Given the description of an element on the screen output the (x, y) to click on. 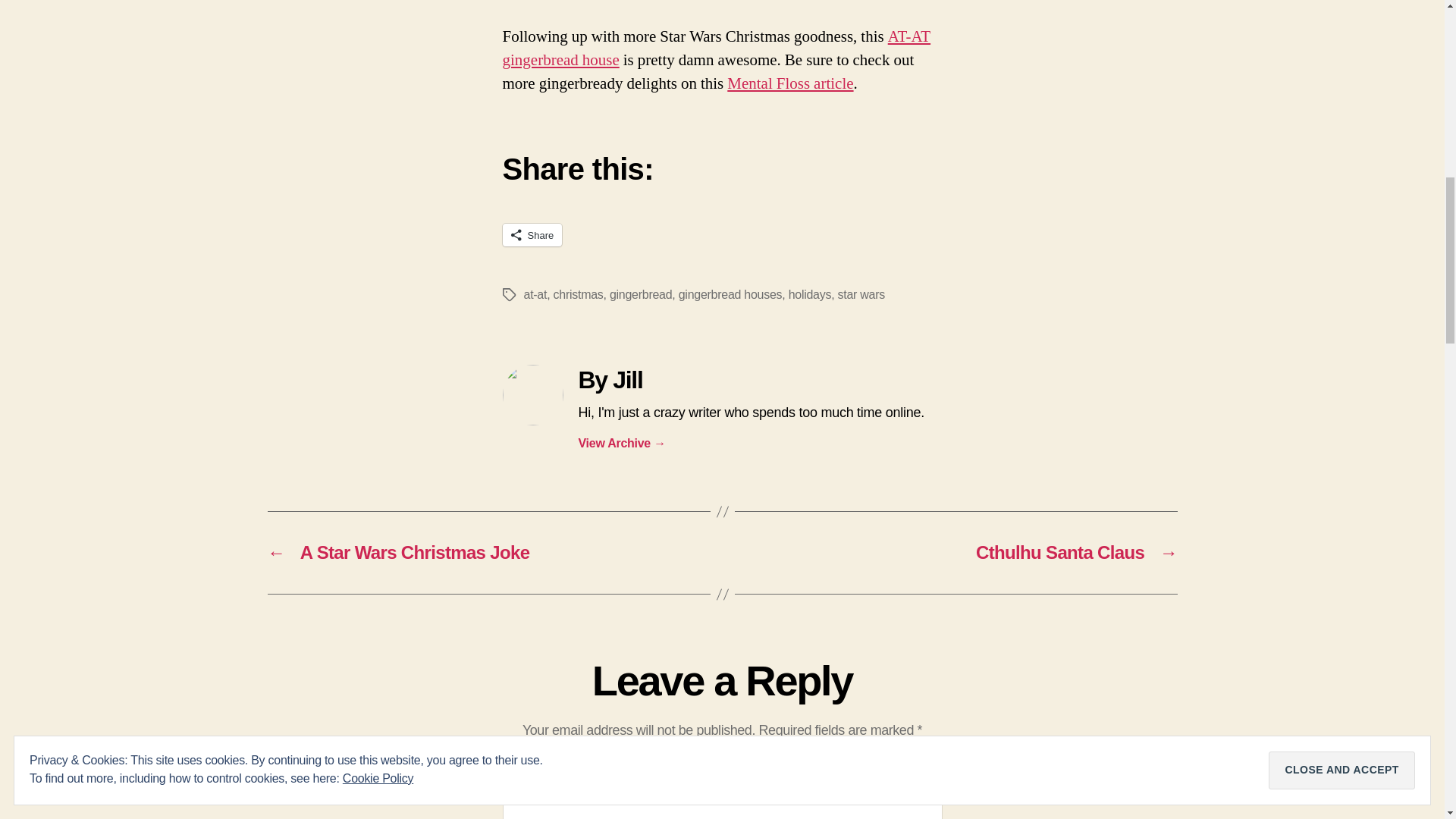
gingerbread (640, 294)
christmas (578, 294)
Mental Floss article (789, 83)
star wars (861, 294)
AT-AT gingerbread house (716, 48)
Share (532, 234)
at-at (534, 294)
holidays (810, 294)
gingerbread houses (730, 294)
